Given the description of an element on the screen output the (x, y) to click on. 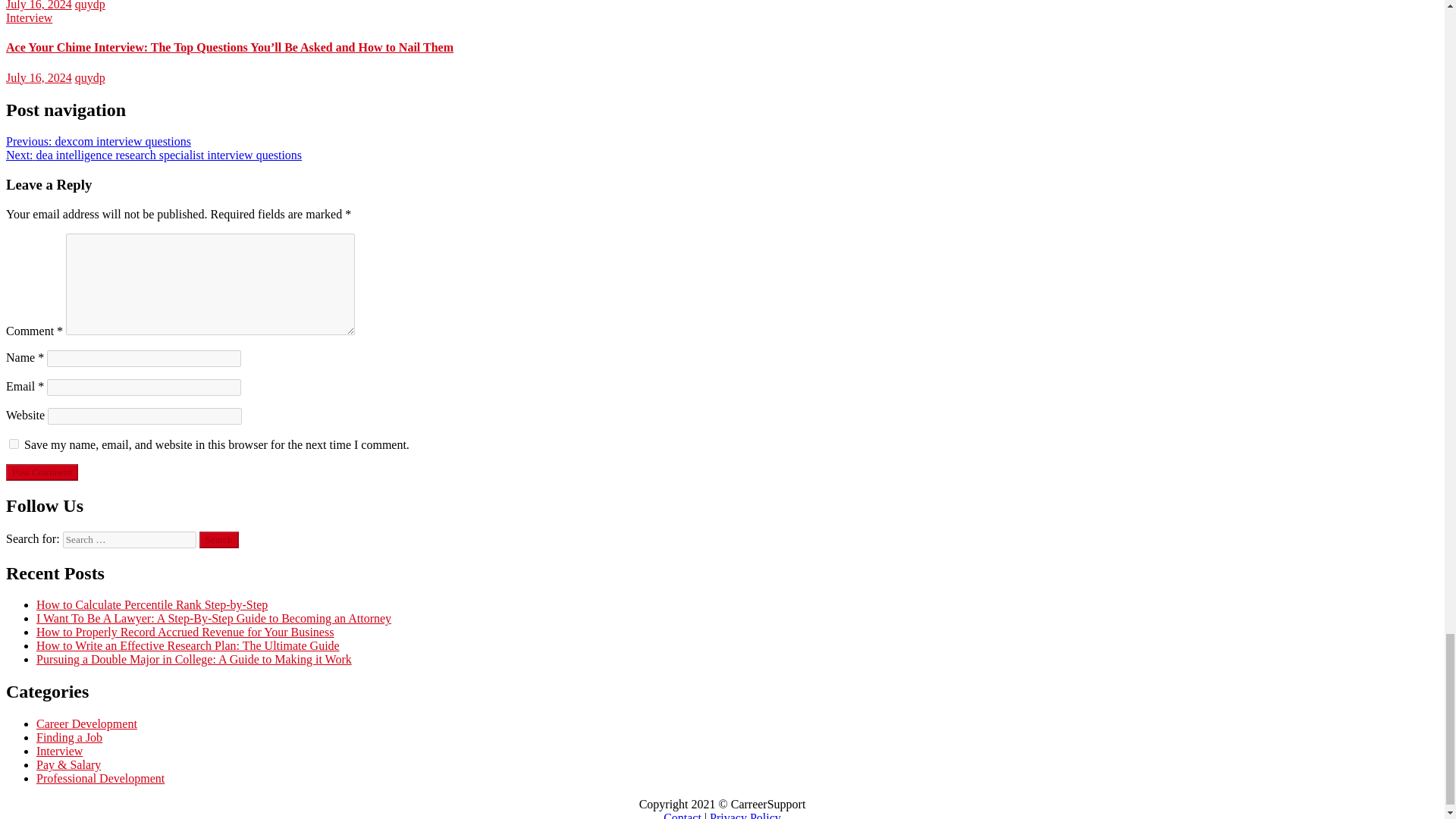
Previous: dexcom interview questions (97, 141)
Post Comment (41, 472)
quydp (89, 5)
Post Comment (41, 472)
Interview (28, 17)
Search (218, 539)
July 16, 2024 (38, 5)
July 16, 2024 (38, 77)
yes (13, 443)
quydp (89, 77)
Search (218, 539)
